Given the description of an element on the screen output the (x, y) to click on. 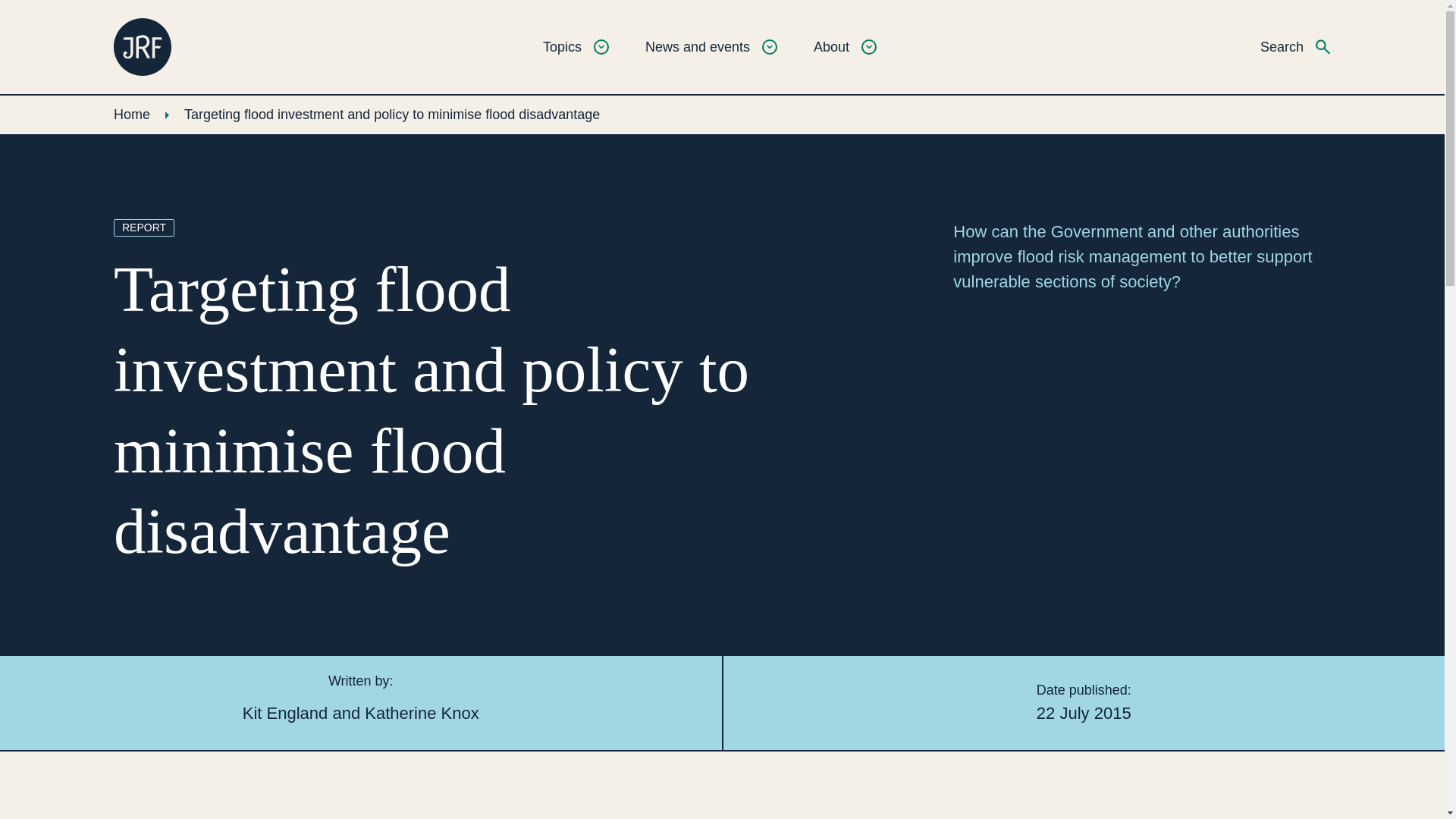
About (844, 46)
Joseph Rowntree Foundation (142, 47)
Topics (575, 46)
News and events (711, 46)
